Given the description of an element on the screen output the (x, y) to click on. 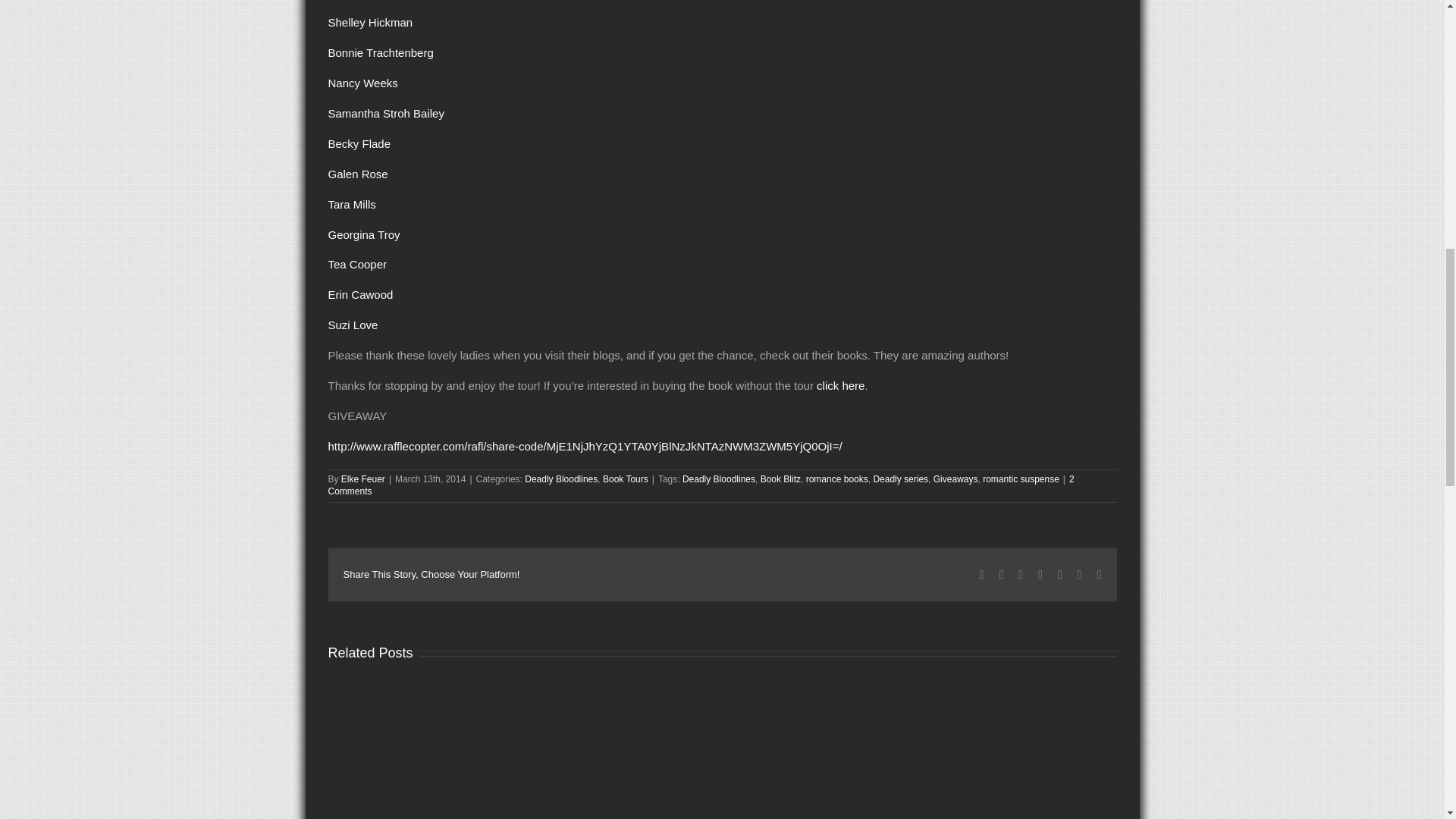
Galen Rose (357, 173)
Shelley Hickman (369, 21)
Becky Flade (358, 143)
Deadly Bloodlines (560, 479)
click here (840, 385)
Bonnie Trachtenberg (379, 51)
Book Tours (624, 479)
Nancy Weeks (362, 82)
Suzi Love (352, 324)
Erin Cawood (360, 294)
Samantha Stroh Bailey (385, 113)
Elke Feuer (362, 479)
Deadly Bloodlines (718, 479)
Posts by Elke Feuer (362, 479)
Georgina Troy (362, 233)
